Given the description of an element on the screen output the (x, y) to click on. 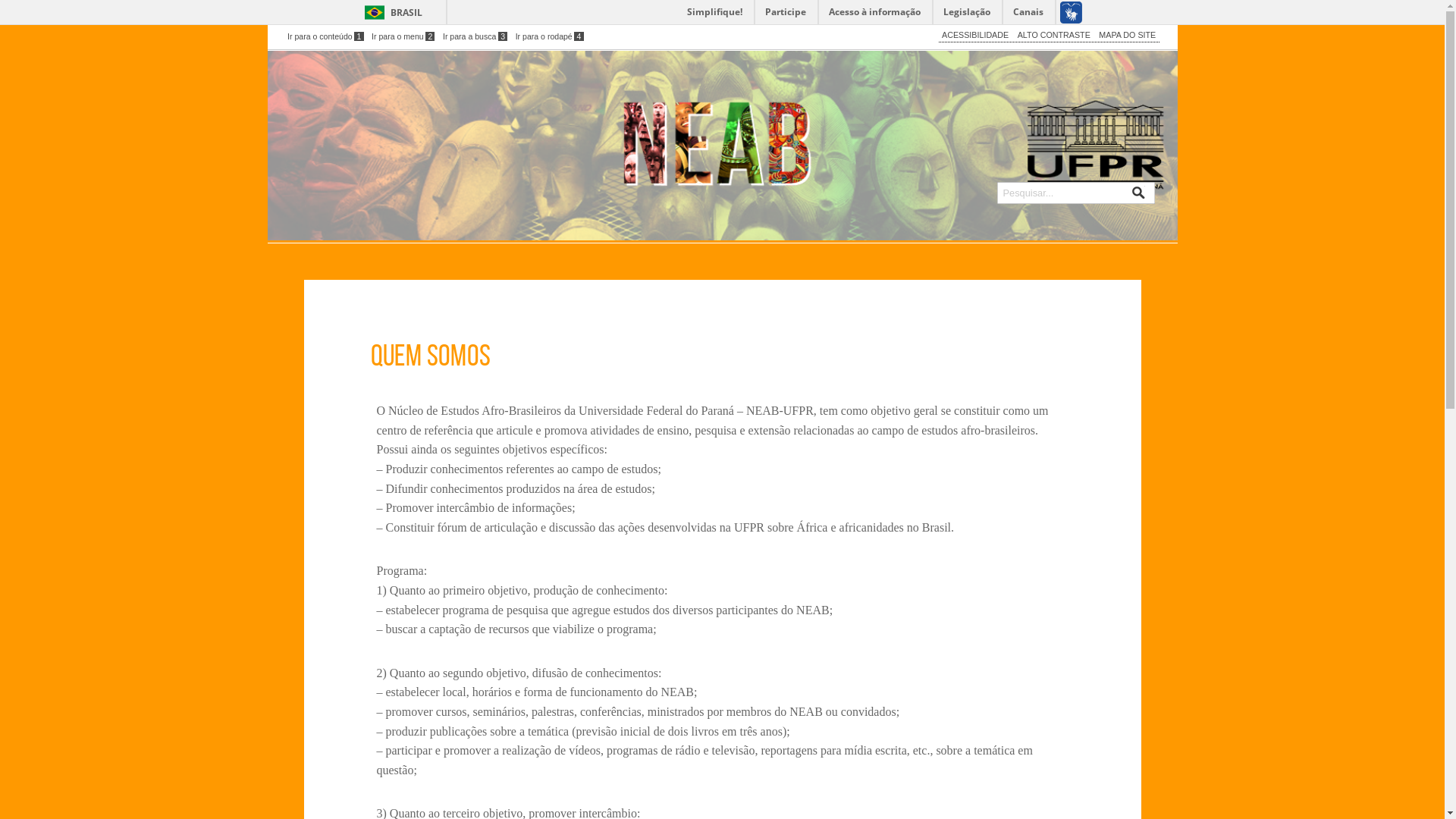
Ir para o menu2 Element type: text (403, 36)
ALTO CONTRASTE Element type: text (1053, 34)
Ir para a busca3 Element type: text (475, 36)
MAPA DO SITE Element type: text (1126, 34)
ACESSIBILIDADE Element type: text (975, 34)
BRASIL Element type: text (389, 12)
